Given the description of an element on the screen output the (x, y) to click on. 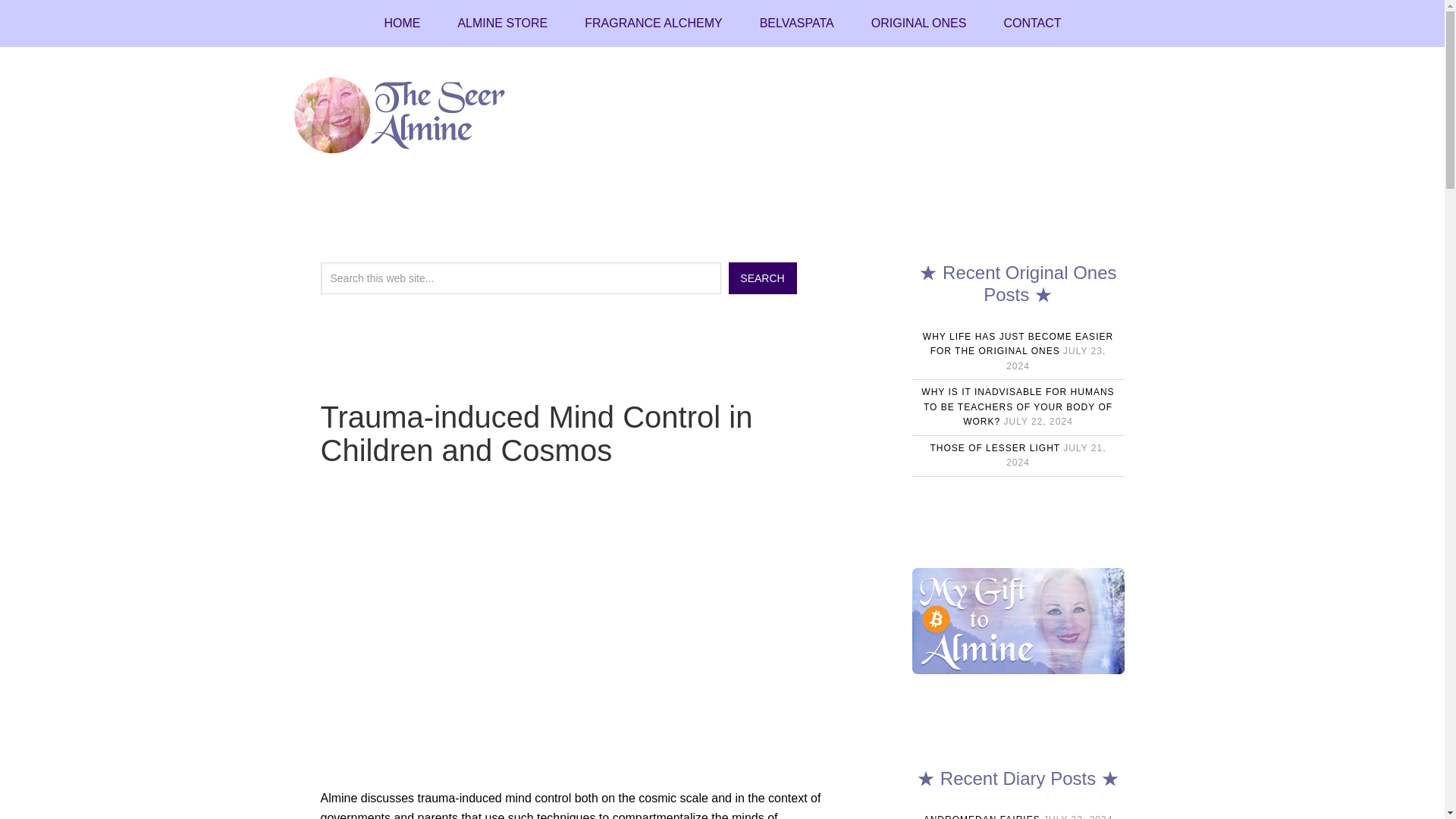
FRAGRANCE ALCHEMY (652, 23)
HOME (401, 23)
ORIGINAL ONES (918, 23)
ALMINE (410, 114)
WHY LIFE HAS JUST BECOME EASIER FOR THE ORIGINAL ONES (1018, 344)
ALMINE STORE (502, 23)
BELVASPATA (796, 23)
Search (762, 278)
THOSE OF LESSER LIGHT (994, 448)
CONTACT (1031, 23)
Search (762, 278)
Go to the Diary home page (401, 23)
ANDROMEDAN FAIRIES (982, 816)
Search (762, 278)
